Given the description of an element on the screen output the (x, y) to click on. 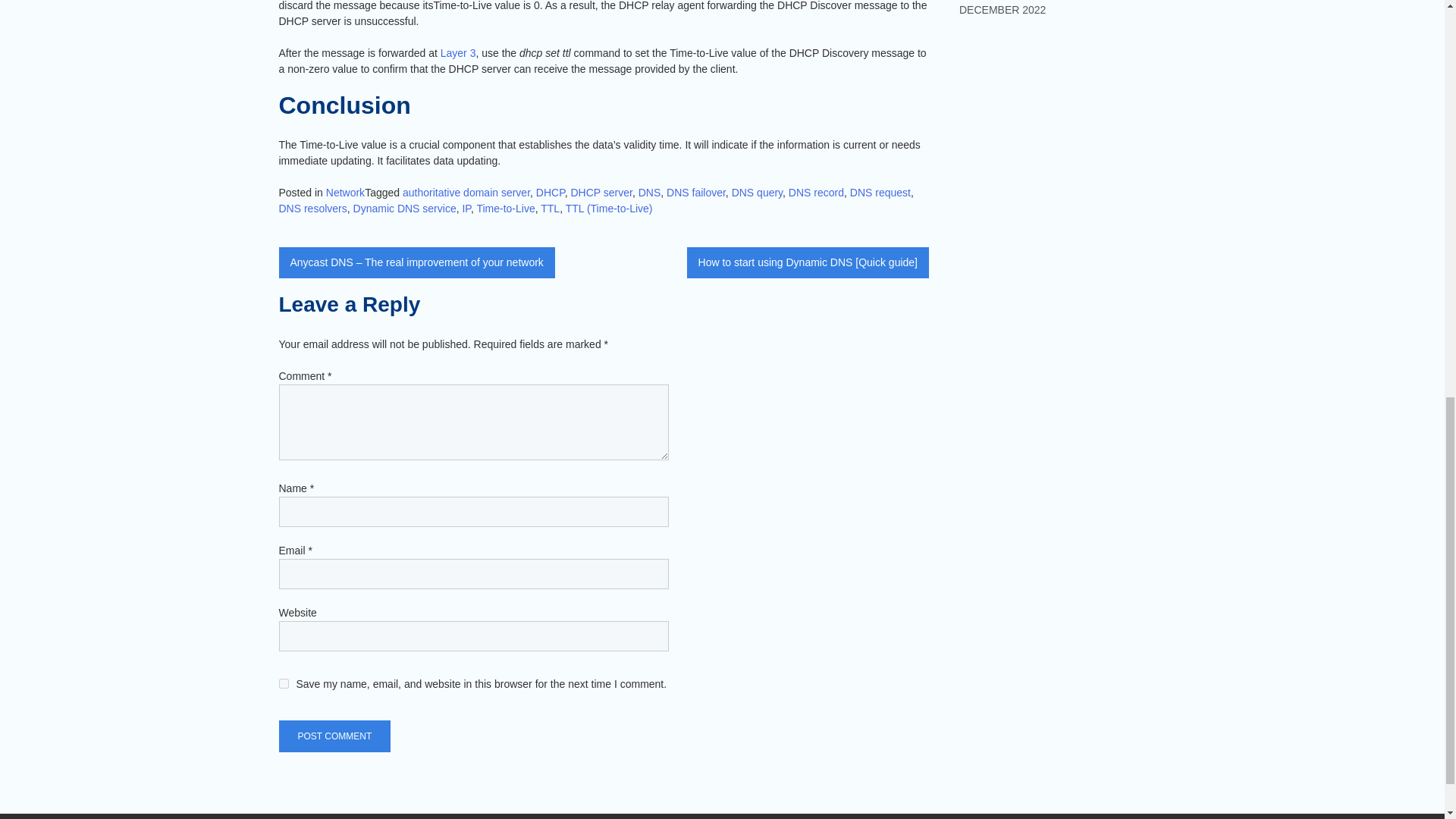
DNS record (816, 192)
DNS resolvers (313, 208)
DNS (650, 192)
DHCP (549, 192)
TTL (549, 208)
Network (345, 192)
authoritative domain server (466, 192)
Layer 3 (458, 52)
Post Comment (335, 736)
Post Comment (335, 736)
